Given the description of an element on the screen output the (x, y) to click on. 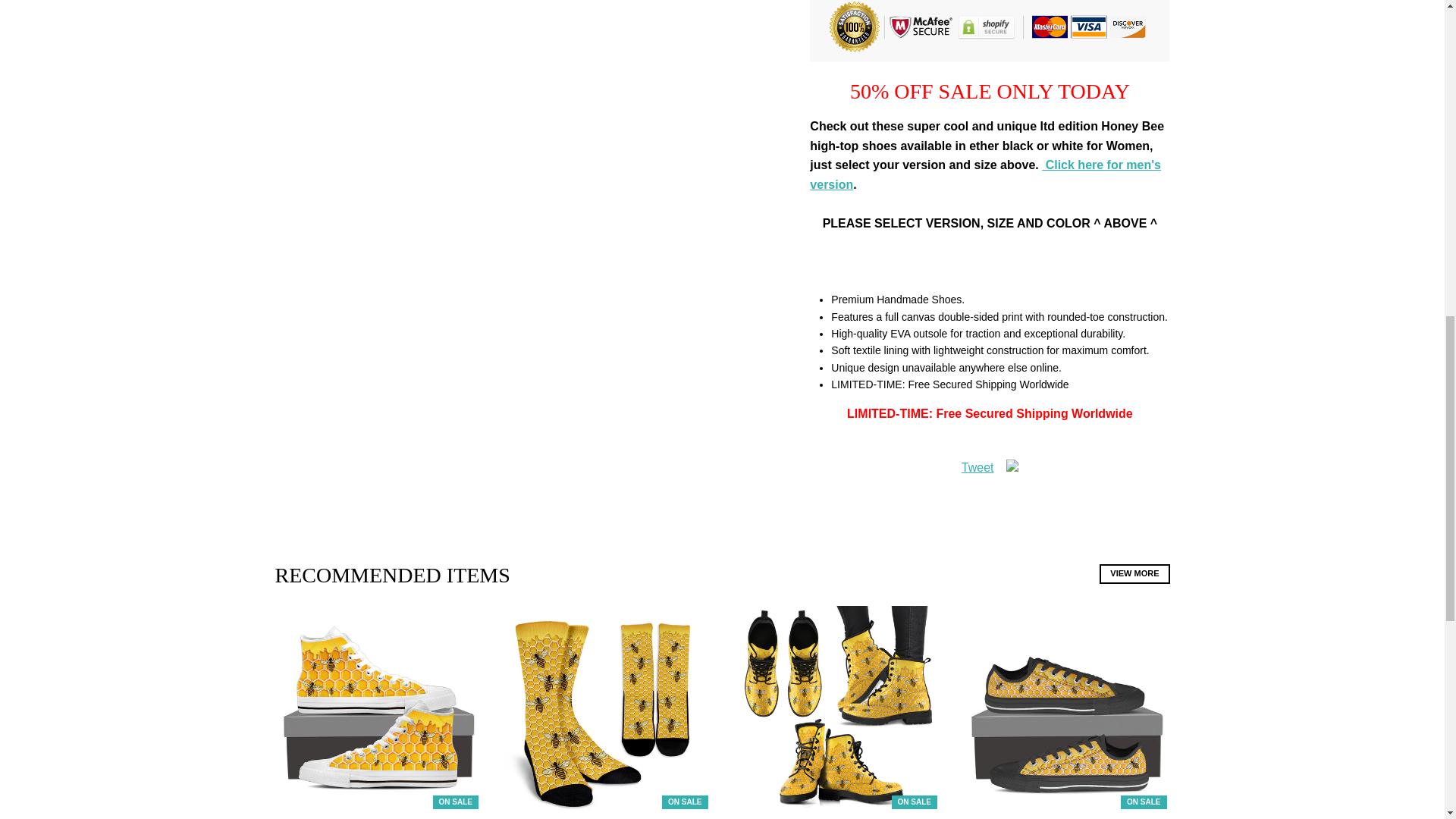
ON SALE (836, 709)
ON SALE (607, 709)
ON SALE (378, 709)
Tweet (977, 467)
ON SALE (1066, 709)
VIEW MORE (1134, 573)
Click here for men's version (984, 174)
